Given the description of an element on the screen output the (x, y) to click on. 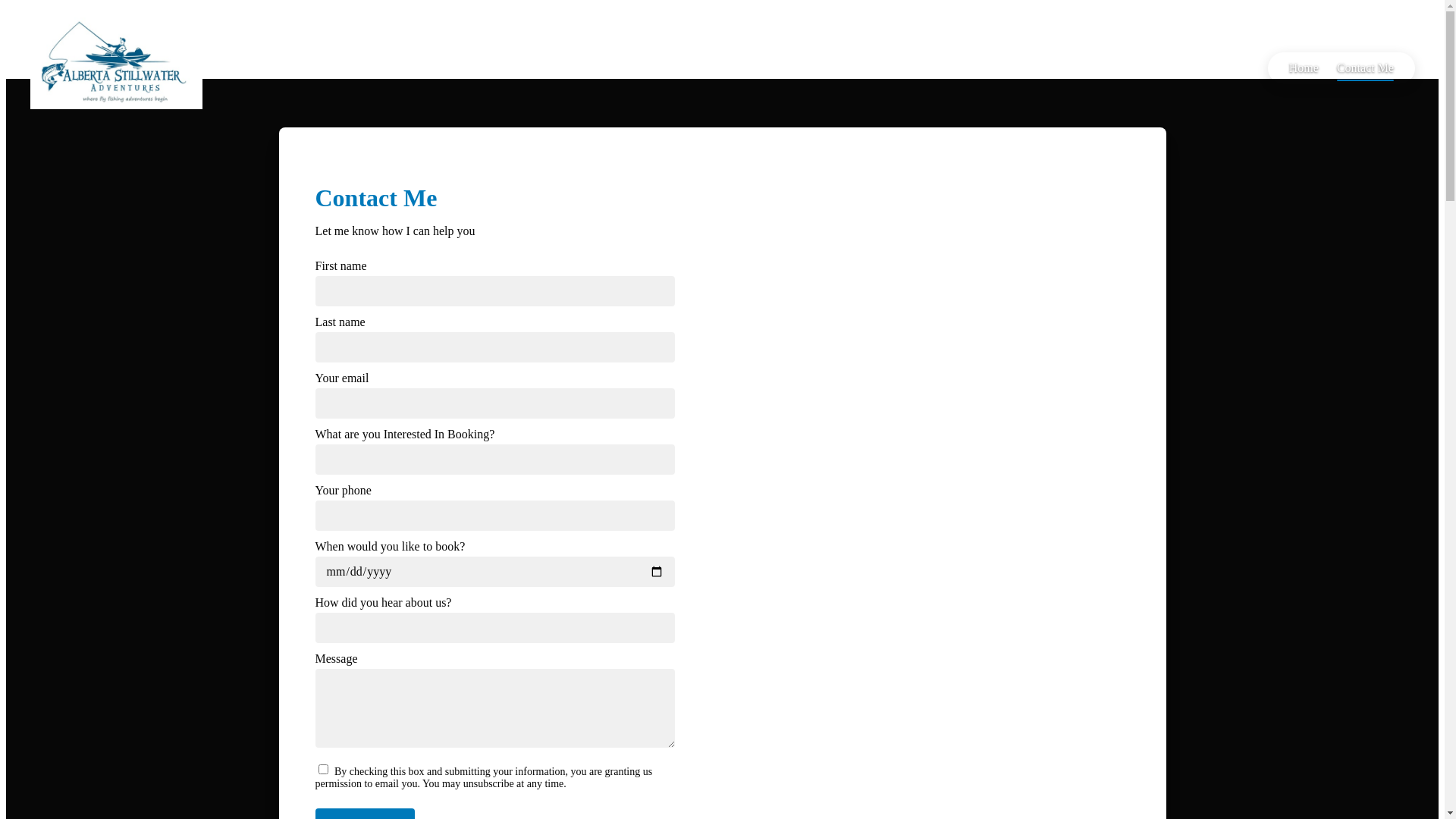
Contact Me Element type: text (1364, 68)
Home Element type: text (1303, 68)
